Given the description of an element on the screen output the (x, y) to click on. 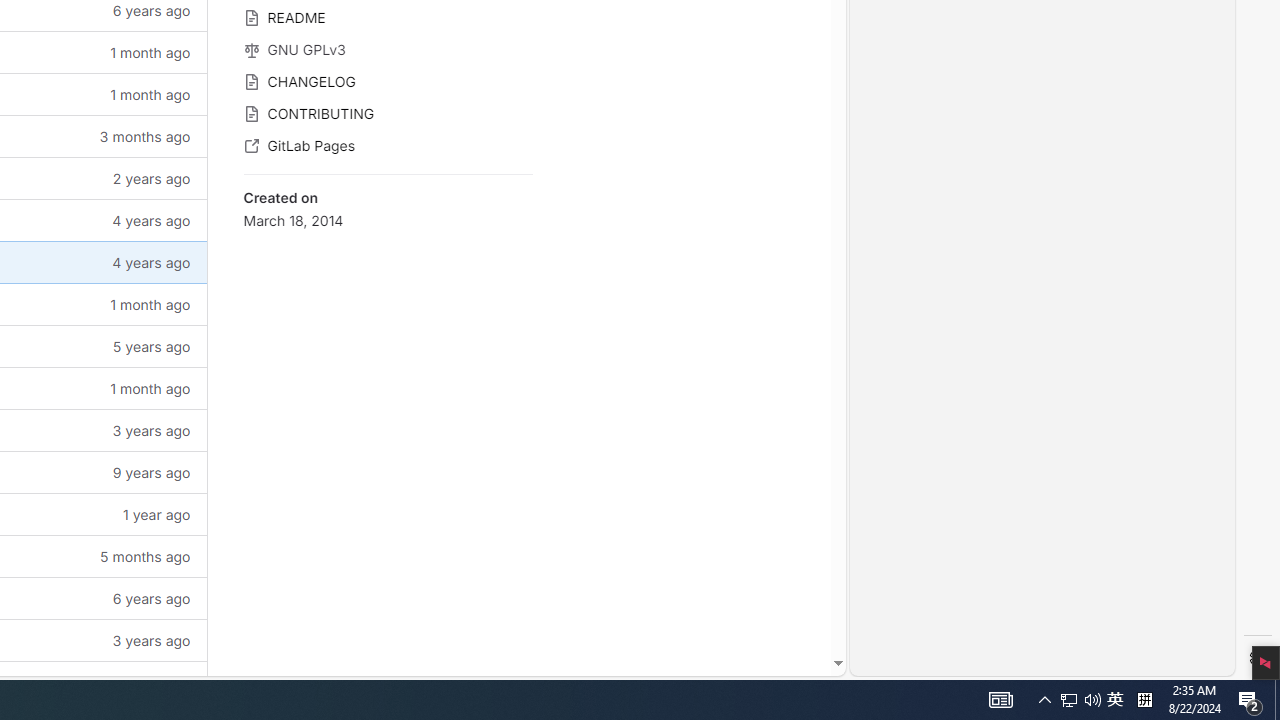
GNU GPLv3 (387, 48)
Class: s16 icon gl-mr-3 gl-text-gray-500 (251, 146)
CHANGELOG (387, 80)
README (387, 16)
GitLab Pages (387, 144)
CONTRIBUTING (387, 111)
GitLab Pages (387, 144)
CONTRIBUTING (387, 111)
GNU GPLv3 (387, 48)
CHANGELOG (387, 80)
README (387, 16)
